Given the description of an element on the screen output the (x, y) to click on. 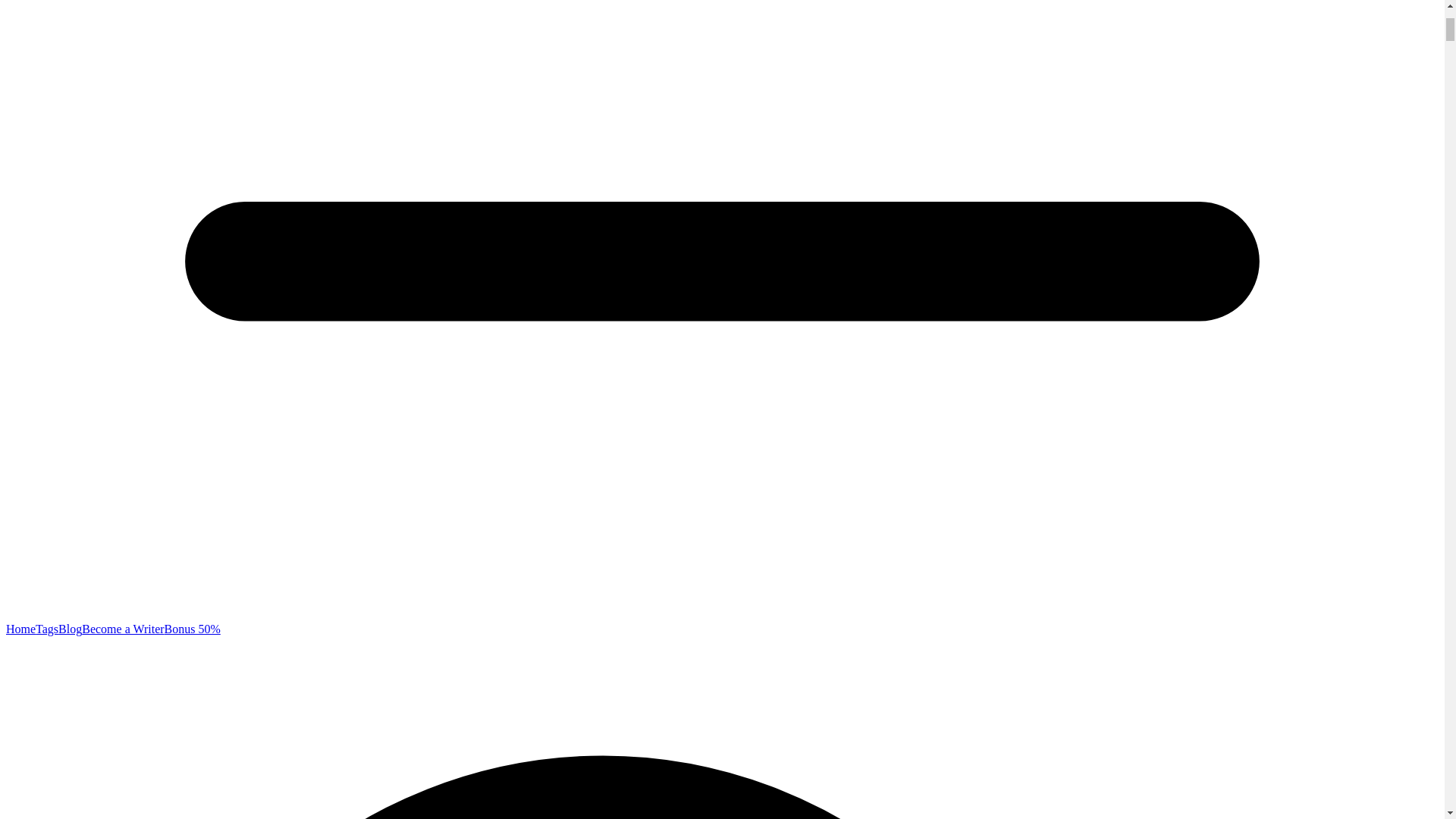
Blog (69, 628)
Home (19, 628)
Tags (46, 628)
